Given the description of an element on the screen output the (x, y) to click on. 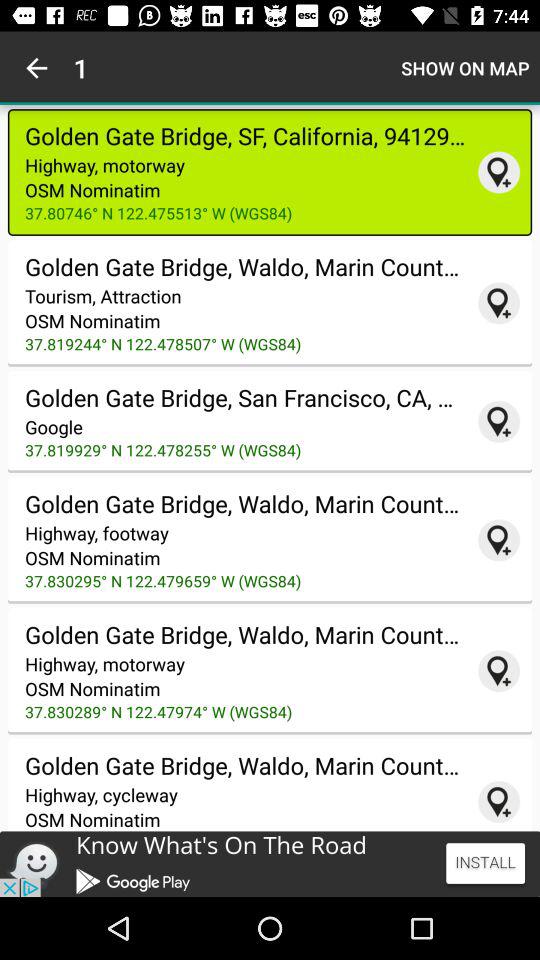
enter coordinates (499, 671)
